Given the description of an element on the screen output the (x, y) to click on. 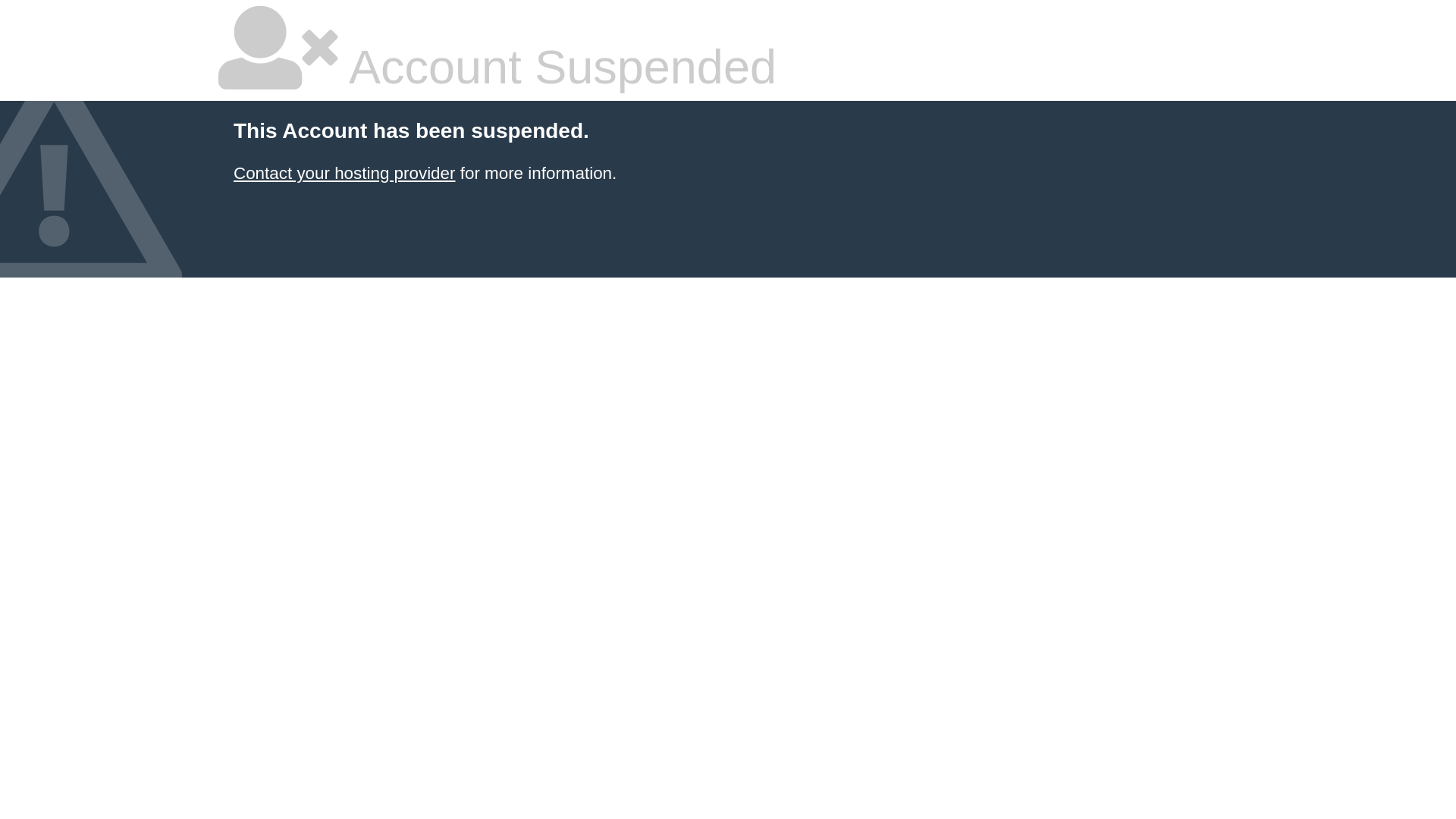
Contact your hosting provider Element type: text (344, 172)
